Given the description of an element on the screen output the (x, y) to click on. 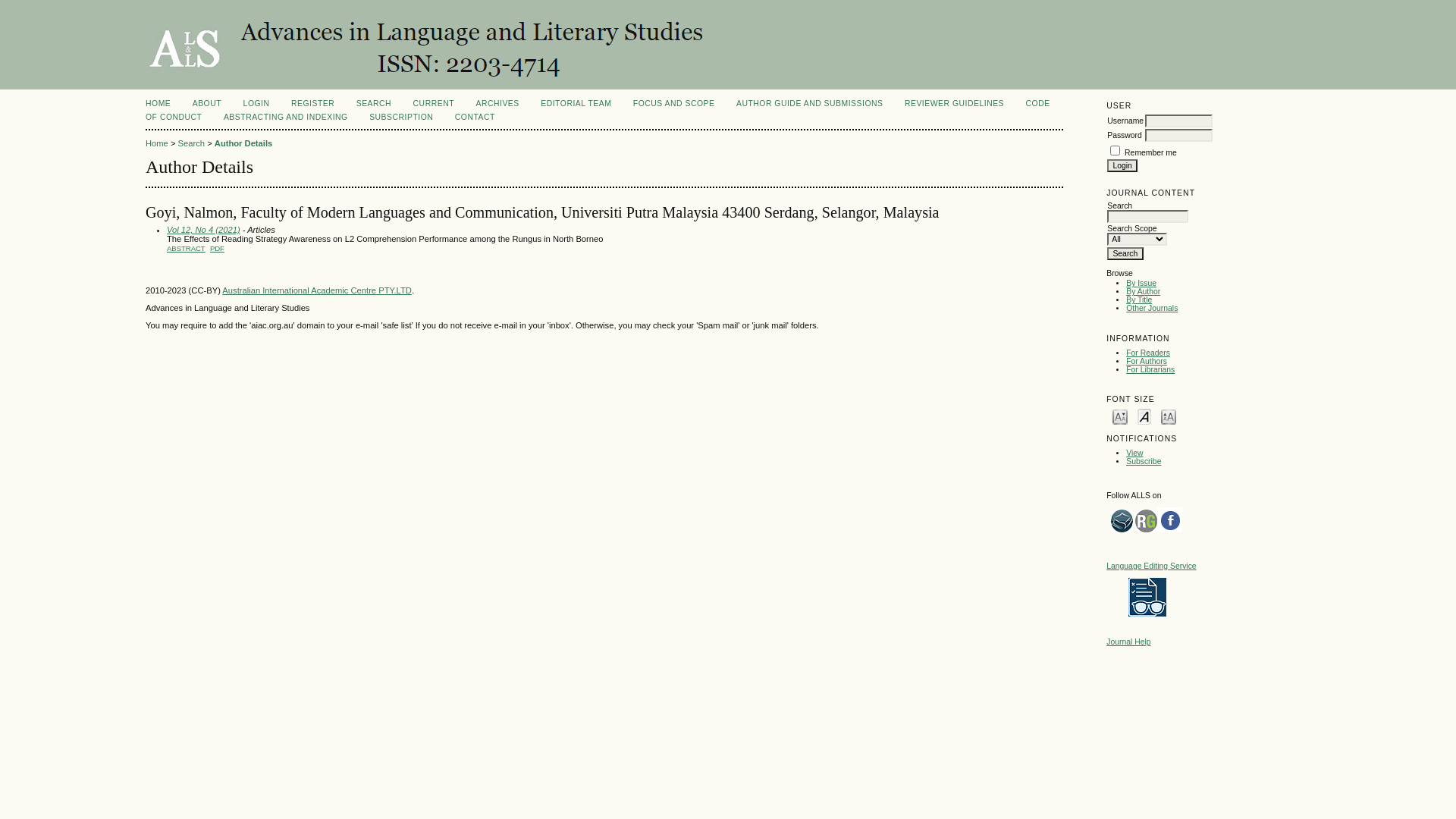
ARCHIVES Element type: text (496, 103)
REGISTER Element type: text (312, 103)
Author Details Element type: text (243, 142)
Home Element type: text (156, 142)
AUTHOR GUIDE AND SUBMISSIONS Element type: text (809, 103)
By Title Element type: text (1138, 299)
Other Journals Element type: text (1151, 308)
Make font size default Element type: text (1143, 415)
For Authors Element type: text (1146, 361)
ABSTRACT Element type: text (185, 248)
PDF Element type: text (217, 248)
CONTACT Element type: text (475, 116)
Make font size larger Element type: text (1168, 415)
CURRENT Element type: text (433, 103)
For Librarians Element type: text (1150, 369)
By Author Element type: text (1143, 291)
Australian International Academic Centre PTY.LTD Element type: text (316, 289)
EDITORIAL TEAM Element type: text (575, 103)
Journal Help Element type: text (1128, 641)
FOCUS AND SCOPE Element type: text (674, 103)
LOGIN Element type: text (256, 103)
ABSTRACTING AND INDEXING Element type: text (285, 116)
By Issue Element type: text (1141, 283)
View Element type: text (1134, 452)
ABOUT Element type: text (206, 103)
For Readers Element type: text (1148, 352)
Search Element type: text (191, 142)
Subscribe Element type: text (1143, 461)
Vol 12, No 4 (2021) Element type: text (203, 229)
REVIEWER GUIDELINES Element type: text (954, 103)
HOME Element type: text (157, 103)
SUBSCRIPTION Element type: text (401, 116)
Login Element type: text (1122, 165)
Make font size smaller Element type: text (1119, 415)
CODE OF CONDUCT Element type: text (597, 110)
Language Editing Service Element type: text (1150, 565)
SEARCH Element type: text (373, 103)
Search Element type: text (1124, 253)
